Given the description of an element on the screen output the (x, y) to click on. 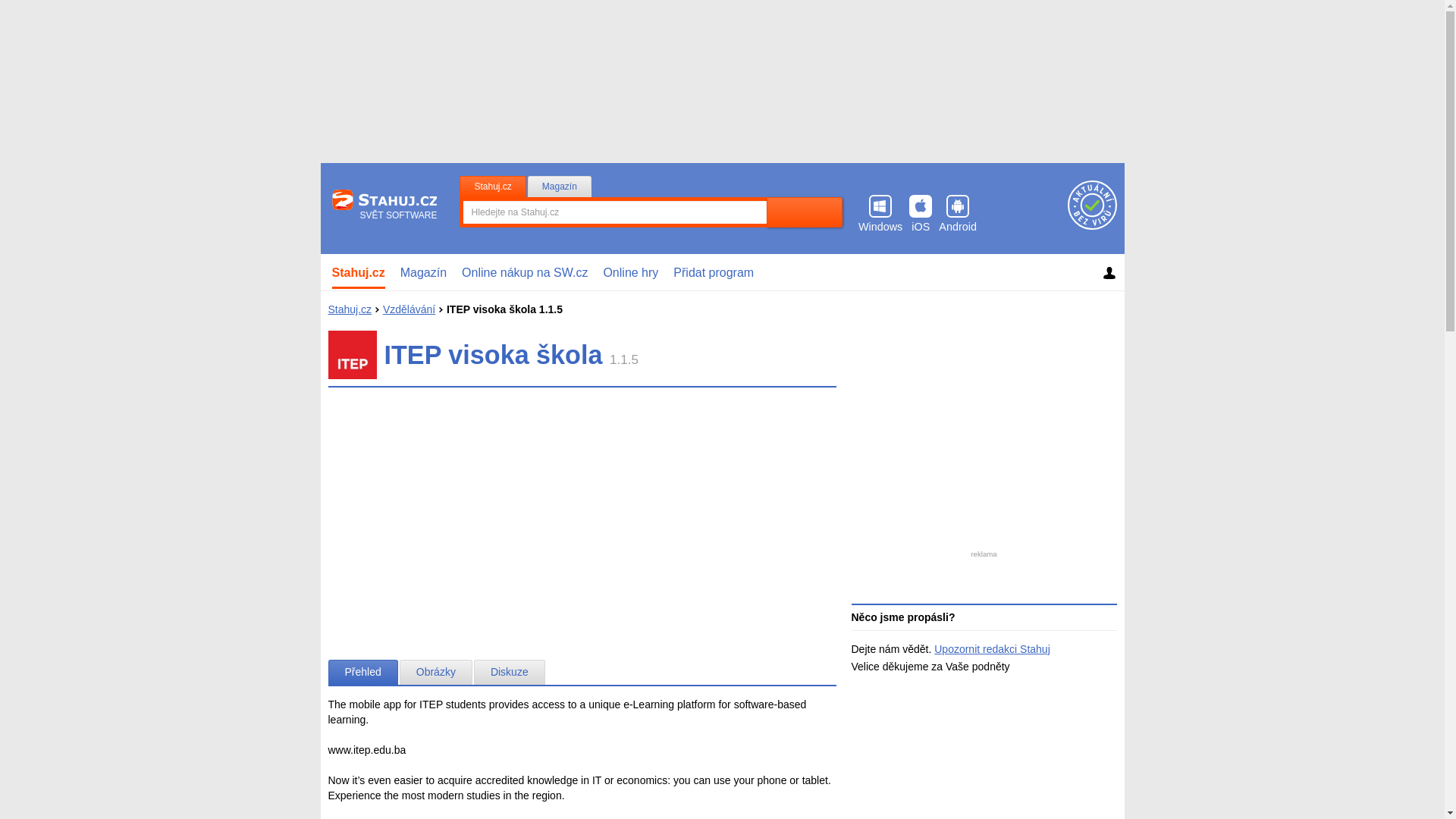
Advertisement (581, 511)
Stahuj.cz (349, 309)
Online hry (630, 272)
Diskuze (509, 672)
Windows (880, 213)
Advertisement (983, 408)
Stahuj.cz (358, 272)
Hledat (805, 212)
Android (957, 213)
Upozornit redakci Stahuj (991, 648)
